Given the description of an element on the screen output the (x, y) to click on. 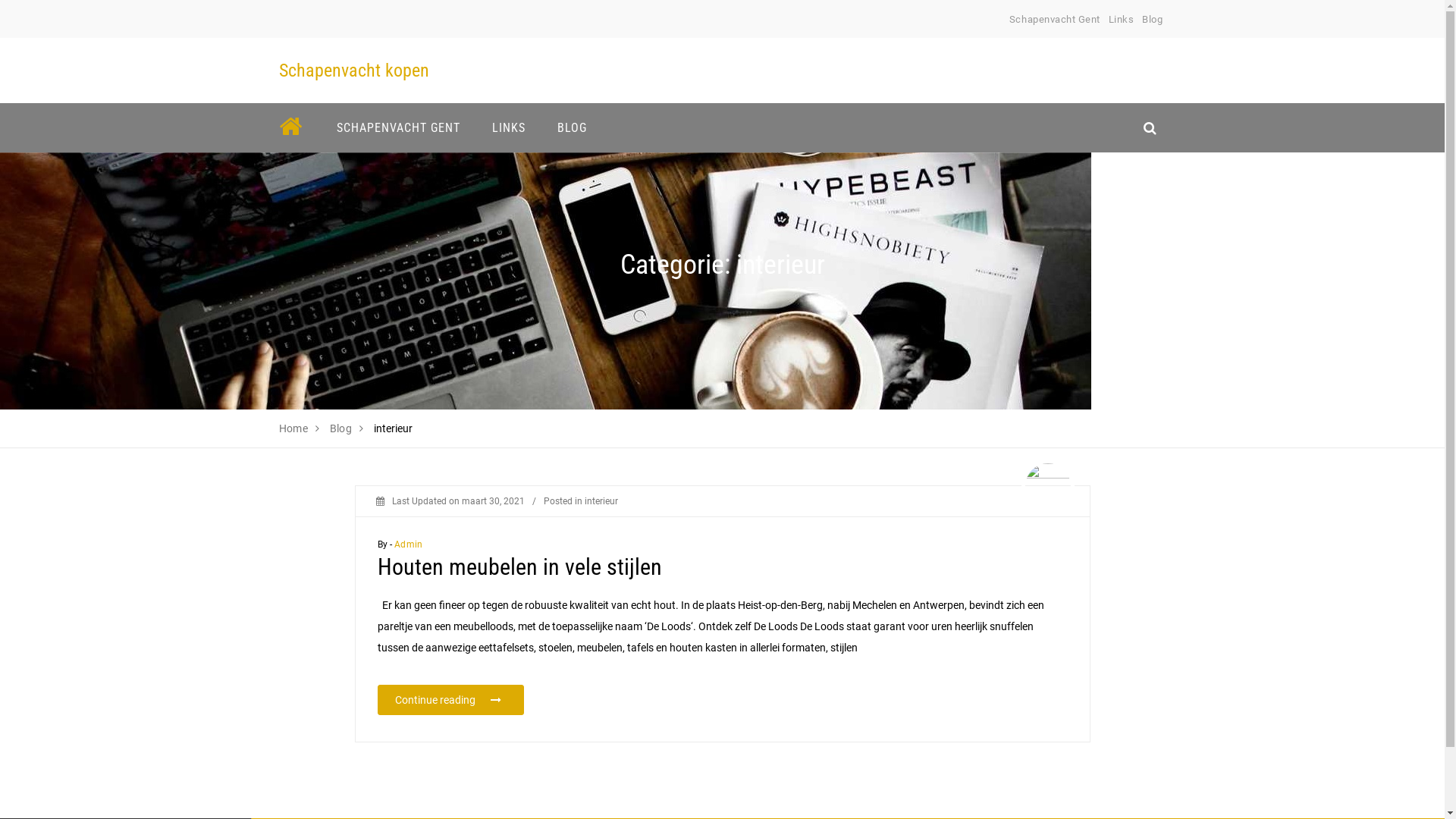
Blog Element type: text (340, 428)
Houten meubelen in vele stijlen Element type: text (519, 566)
SCHAPENVACHT GENT Element type: text (397, 127)
LINKS Element type: text (508, 127)
Schapenvacht kopen Element type: text (354, 70)
Admin Element type: text (408, 544)
BLOG Element type: text (571, 127)
Home Element type: text (293, 428)
interieur Element type: text (600, 500)
search_icon Element type: hover (1148, 127)
Blog Element type: text (1152, 19)
Links Element type: text (1121, 19)
Schapenvacht Gent Element type: text (1054, 19)
